Given the description of an element on the screen output the (x, y) to click on. 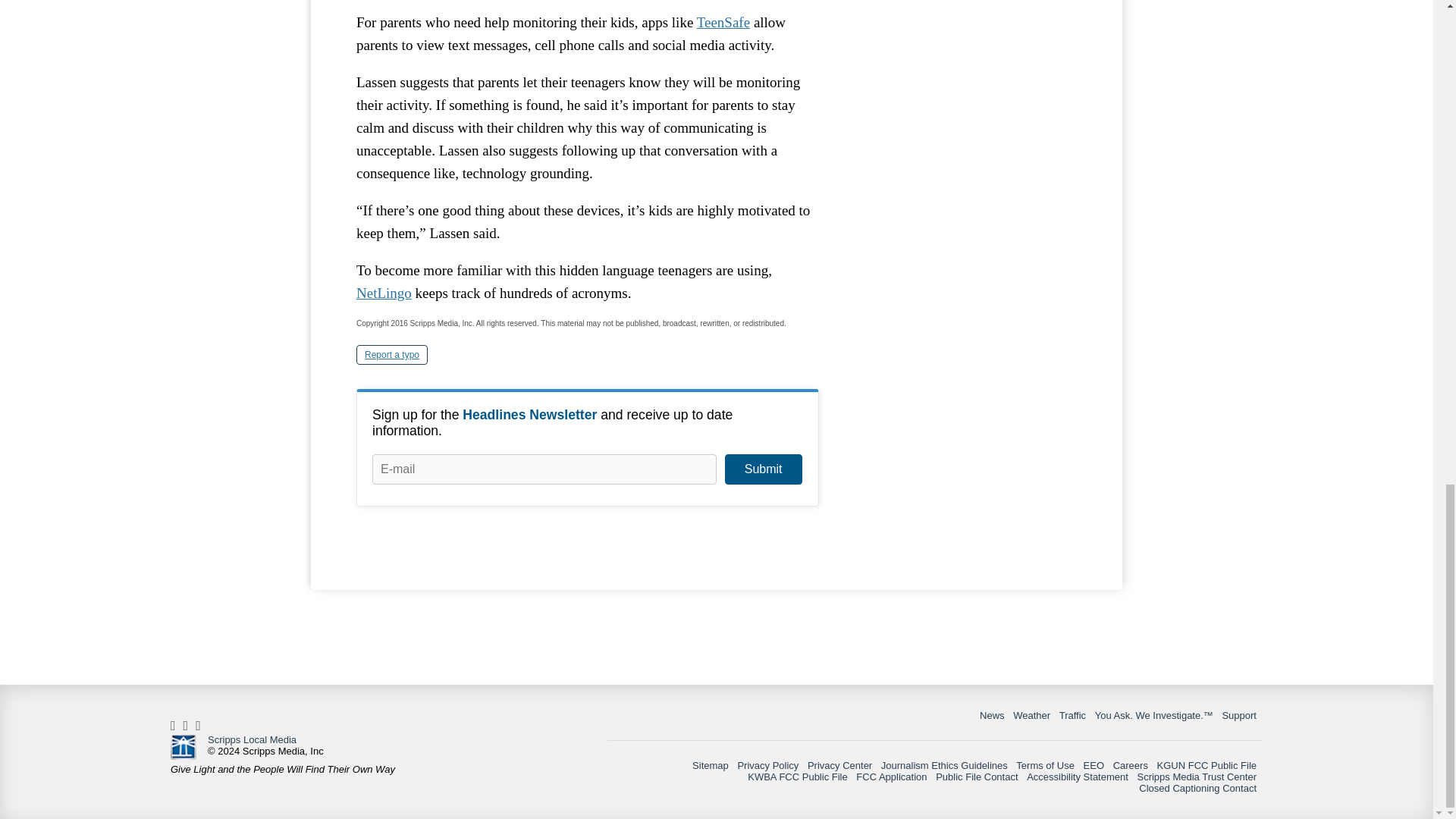
Submit (763, 469)
